Given the description of an element on the screen output the (x, y) to click on. 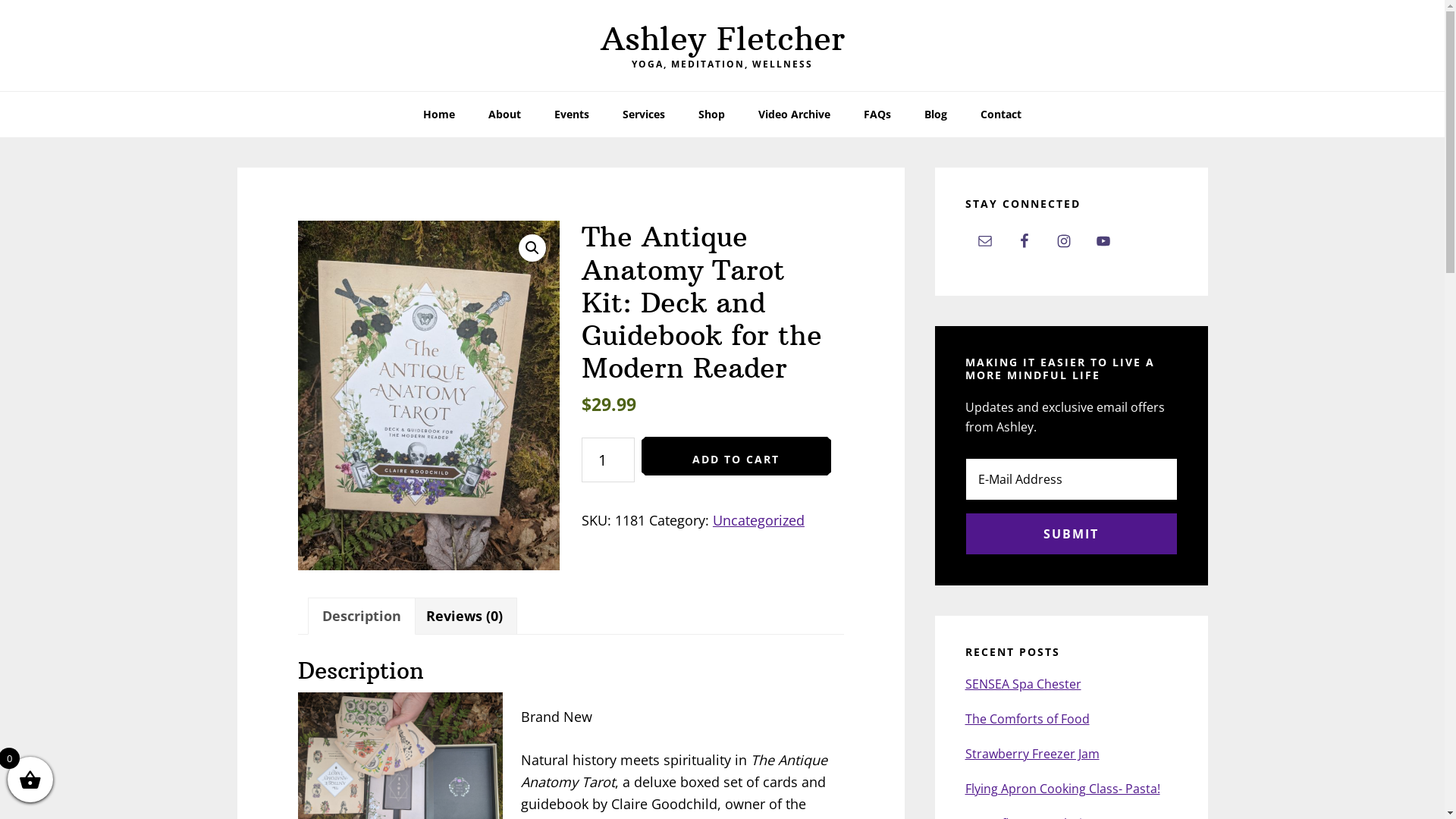
Services Element type: text (643, 114)
Uncategorized Element type: text (758, 520)
Submit Element type: text (1070, 533)
Blog Element type: text (935, 114)
FAQs Element type: text (877, 114)
Contact Element type: text (1000, 114)
SENSEA Spa Chester Element type: text (1022, 683)
IMG_20210425_174005 Element type: hover (428, 395)
Description Element type: text (360, 615)
Video Archive Element type: text (794, 114)
Reviews (0) Element type: text (464, 615)
Home Element type: text (438, 114)
Strawberry Freezer Jam Element type: text (1031, 753)
ADD TO CART Element type: text (736, 456)
Flying Apron Cooking Class- Pasta! Element type: text (1061, 788)
Skip to primary navigation Element type: text (0, 0)
About Element type: text (504, 114)
Ashley Fletcher Element type: text (722, 38)
The Comforts of Food Element type: text (1026, 718)
Shop Element type: text (711, 114)
Events Element type: text (571, 114)
